Given the description of an element on the screen output the (x, y) to click on. 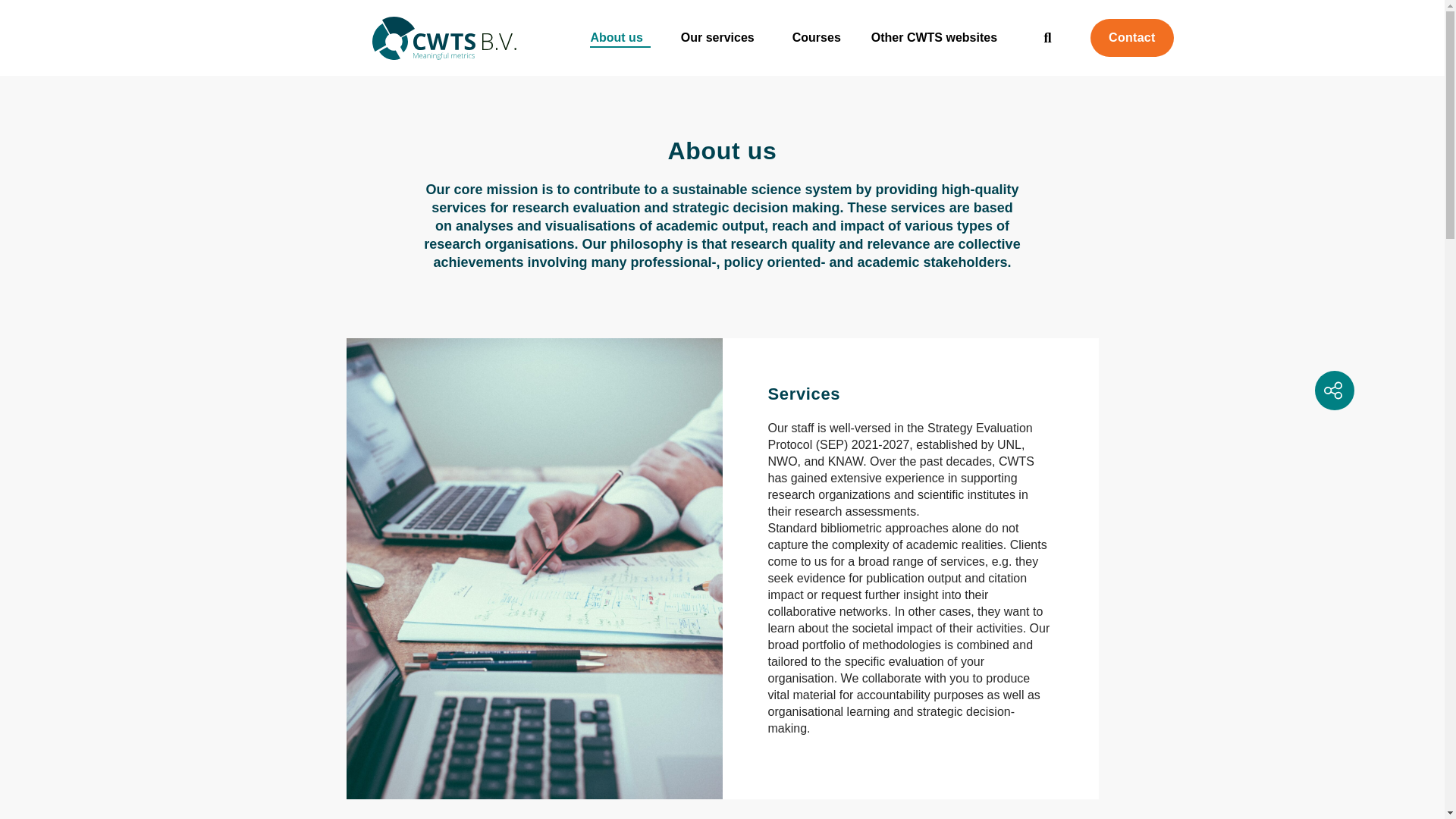
Courses (816, 37)
Other CWTS websites (937, 37)
Our services (721, 37)
Contact (1131, 37)
About us (619, 37)
